Given the description of an element on the screen output the (x, y) to click on. 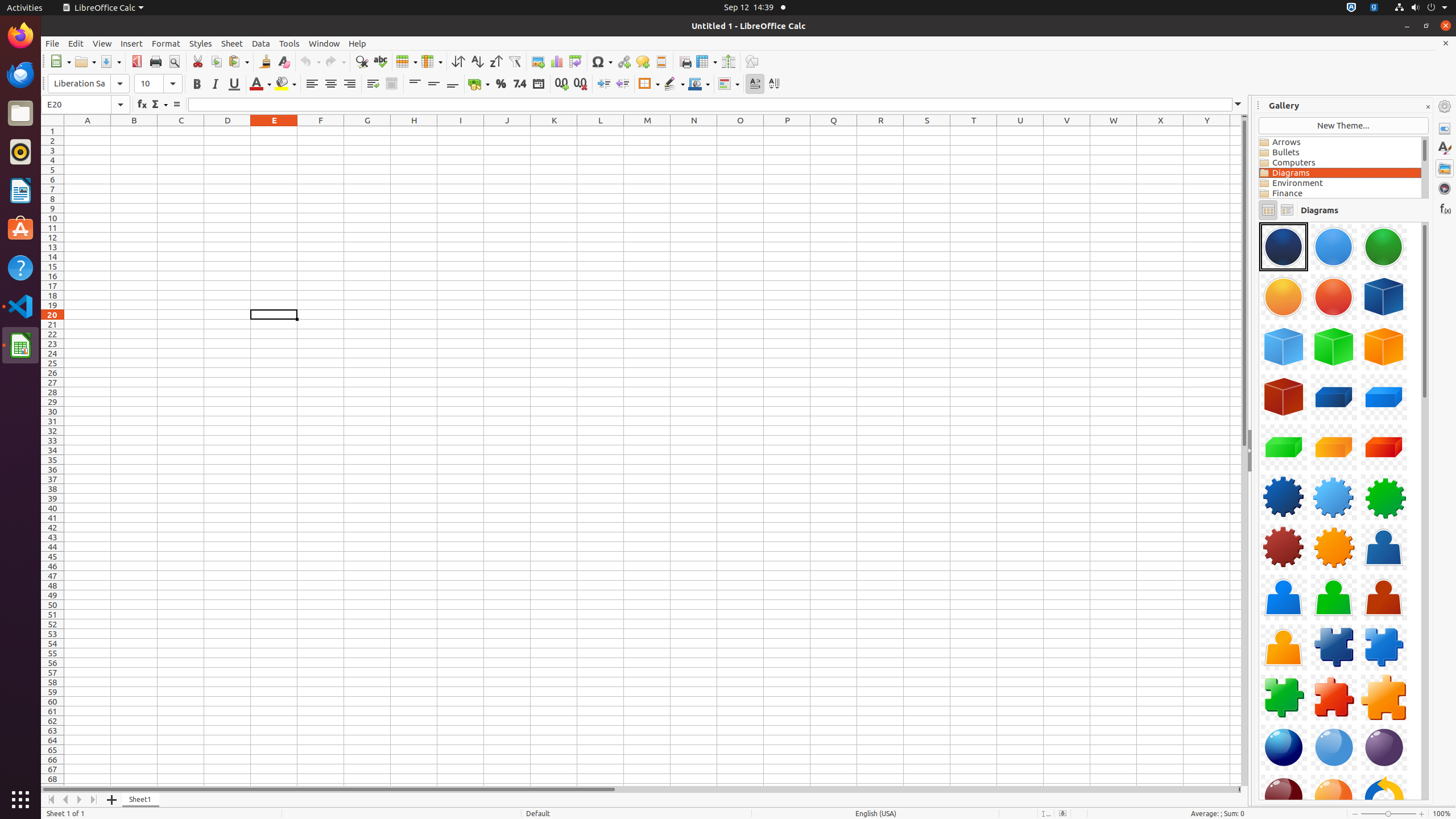
New Element type: push-button (59, 61)
C1 Element type: table-cell (180, 130)
Rhythmbox Element type: push-button (20, 151)
K1 Element type: table-cell (553, 130)
Center Vertically Element type: push-button (433, 83)
